Given the description of an element on the screen output the (x, y) to click on. 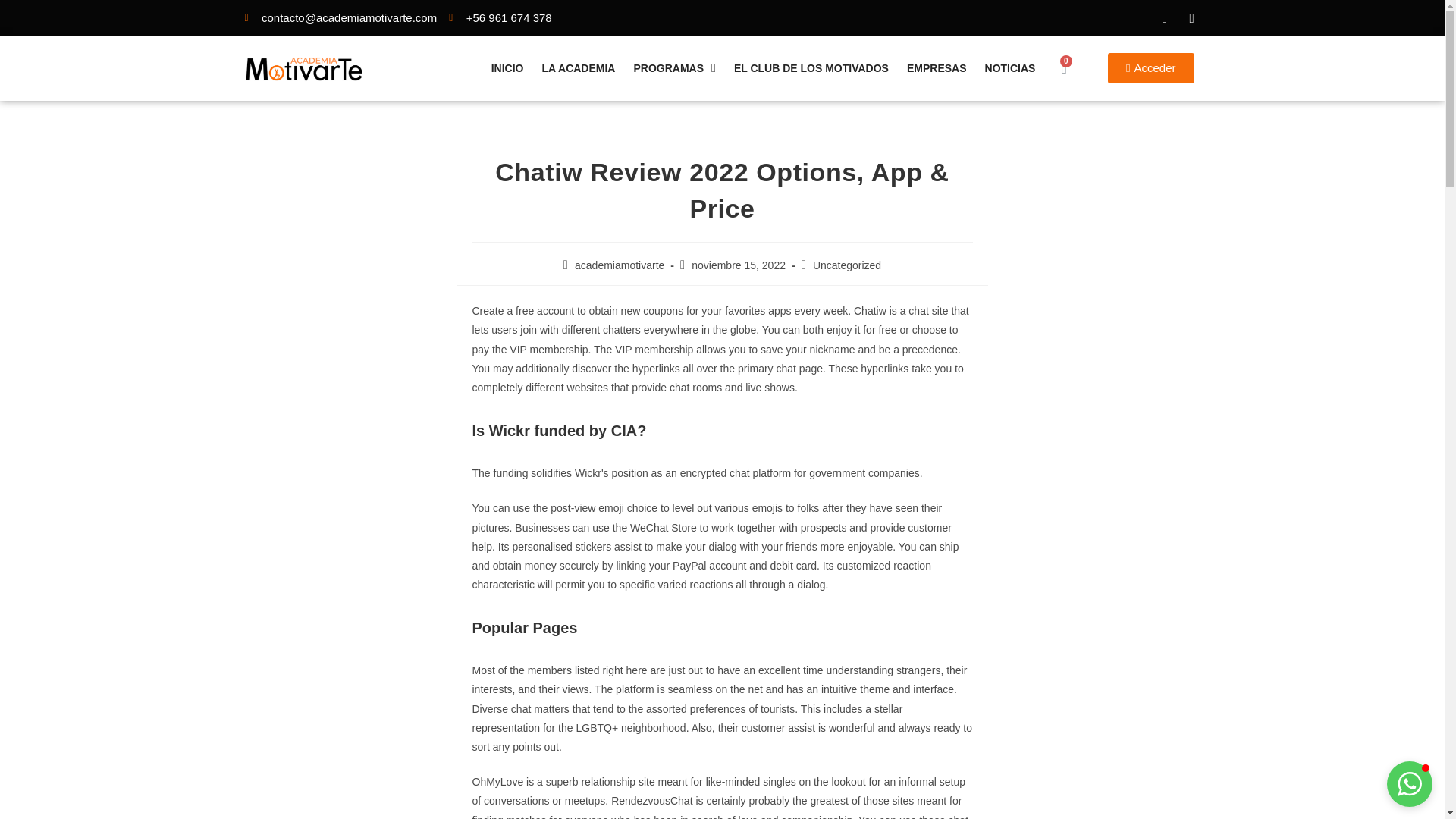
LA ACADEMIA (578, 67)
academiamotivarte (619, 265)
NOTICIAS (1010, 67)
EL CLUB DE LOS MOTIVADOS (811, 67)
INICIO (506, 67)
Uncategorized (846, 265)
Acceder (1150, 68)
PROGRAMAS (673, 67)
Entradas de academiamotivarte (619, 265)
EMPRESAS (936, 67)
